Given the description of an element on the screen output the (x, y) to click on. 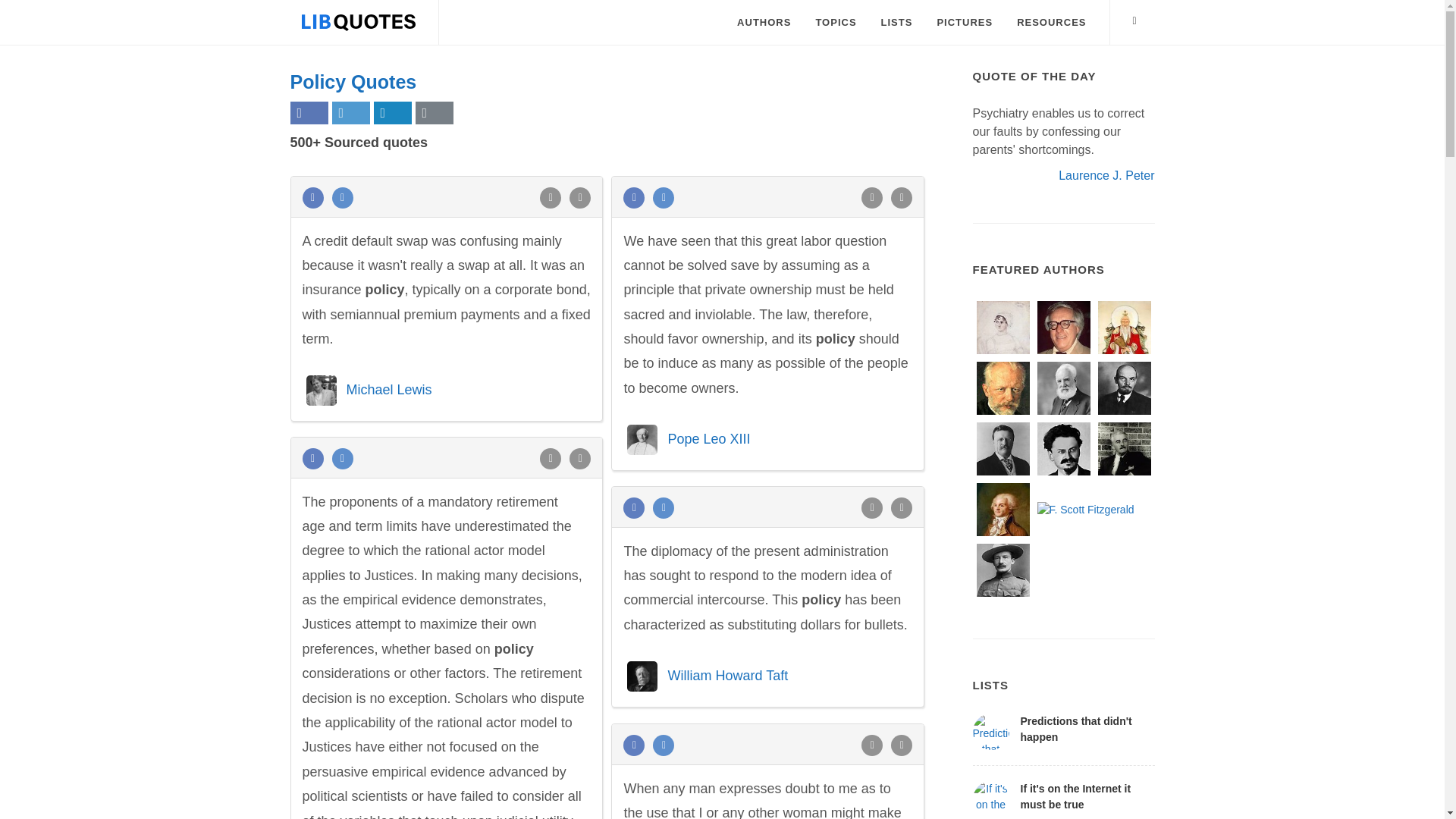
RESOURCES (1051, 22)
Michael Lewis (388, 389)
TOPICS (835, 22)
LISTS (896, 22)
AUTHORS (763, 22)
PICTURES (964, 22)
Pope Leo XIII (707, 438)
